Given the description of an element on the screen output the (x, y) to click on. 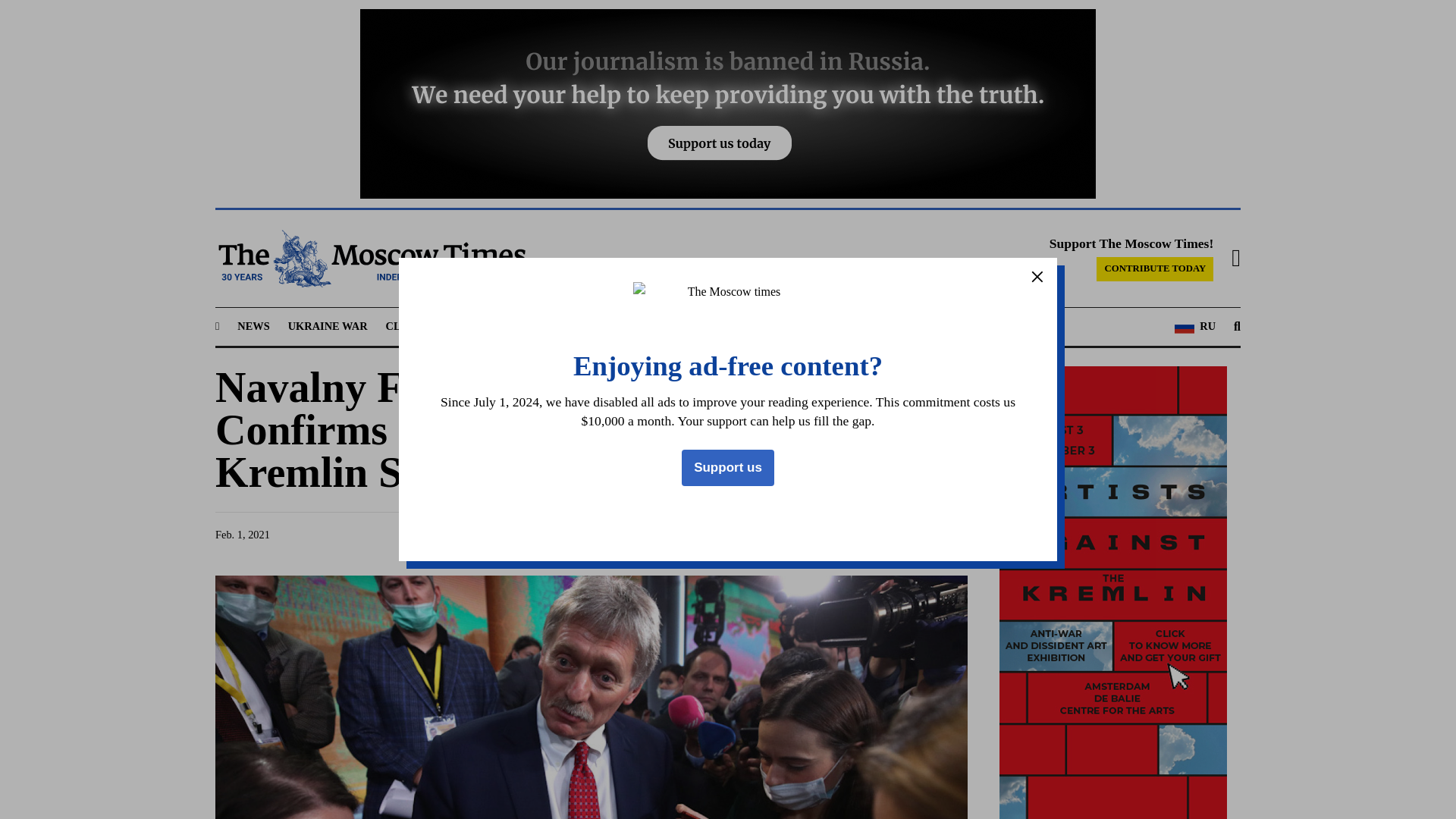
UKRAINE WAR (328, 326)
ARCHIVE (853, 326)
Share on Facebook (781, 534)
BUSINESS (550, 326)
Support us (727, 467)
OPINION (708, 326)
CONTRIBUTE TODAY (1154, 269)
CLIMATE (411, 326)
Share on Telegram (838, 534)
Share on Twitter (810, 534)
The Moscow Times - Independent News from Russia (370, 258)
REGIONS (479, 326)
MEANWHILE (629, 326)
NEWS (253, 326)
RU (1194, 326)
